Given the description of an element on the screen output the (x, y) to click on. 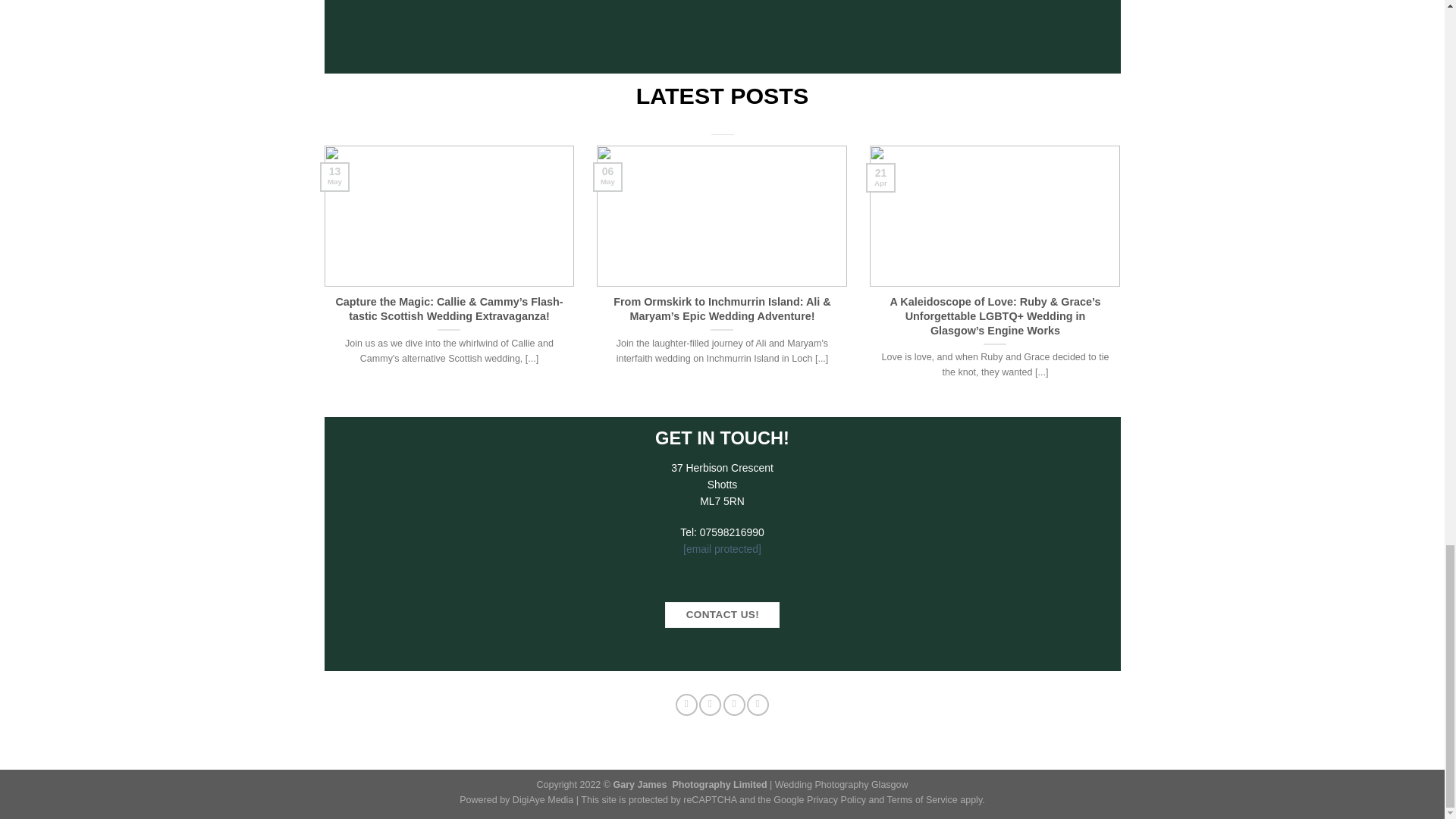
Call us (757, 704)
Follow on Instagram (709, 704)
Send us an email (734, 704)
Follow on Facebook (686, 704)
